Given the description of an element on the screen output the (x, y) to click on. 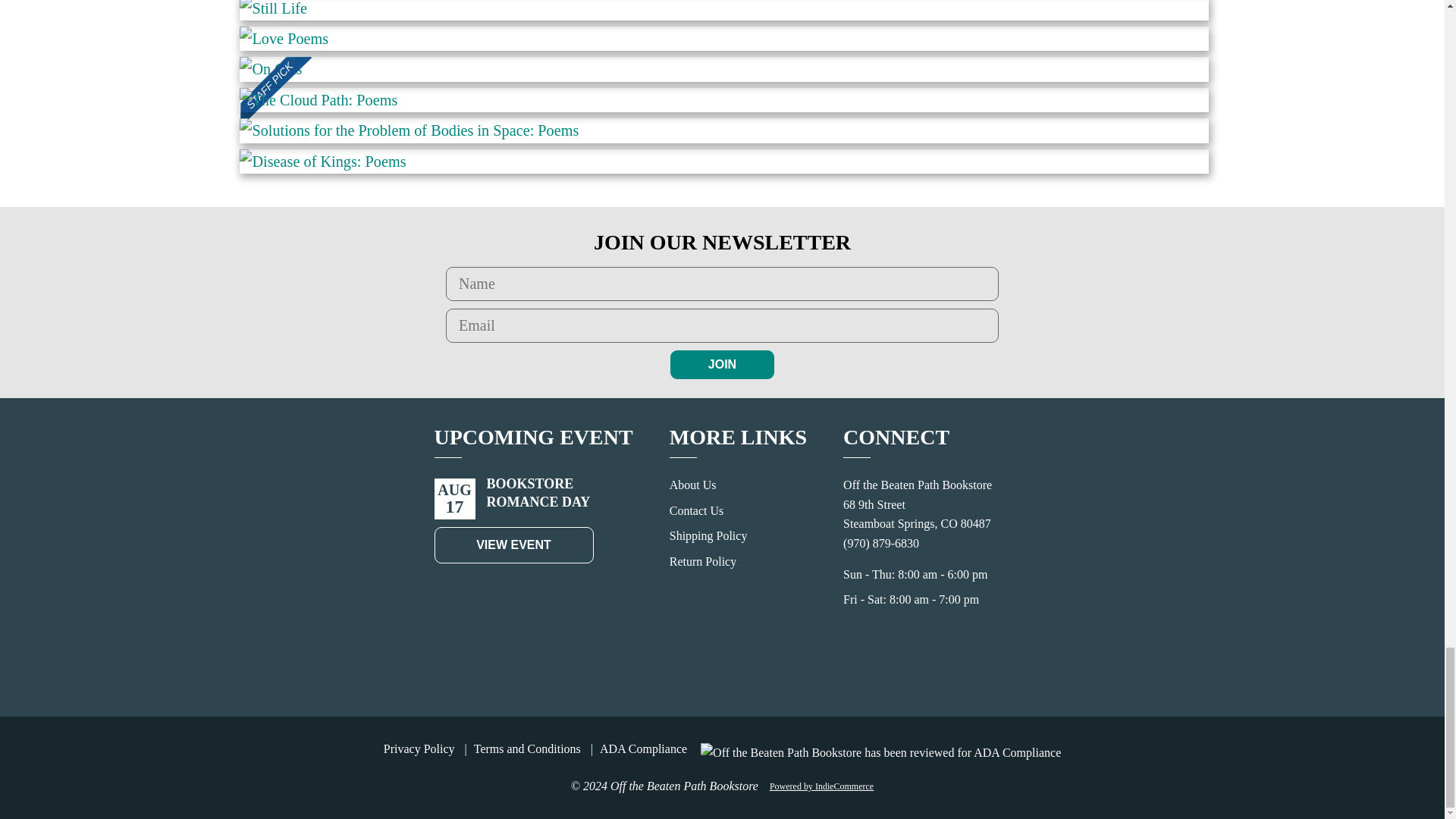
Connect with Instagram (943, 663)
Connect with Facebook (909, 663)
Join (721, 364)
